Given the description of an element on the screen output the (x, y) to click on. 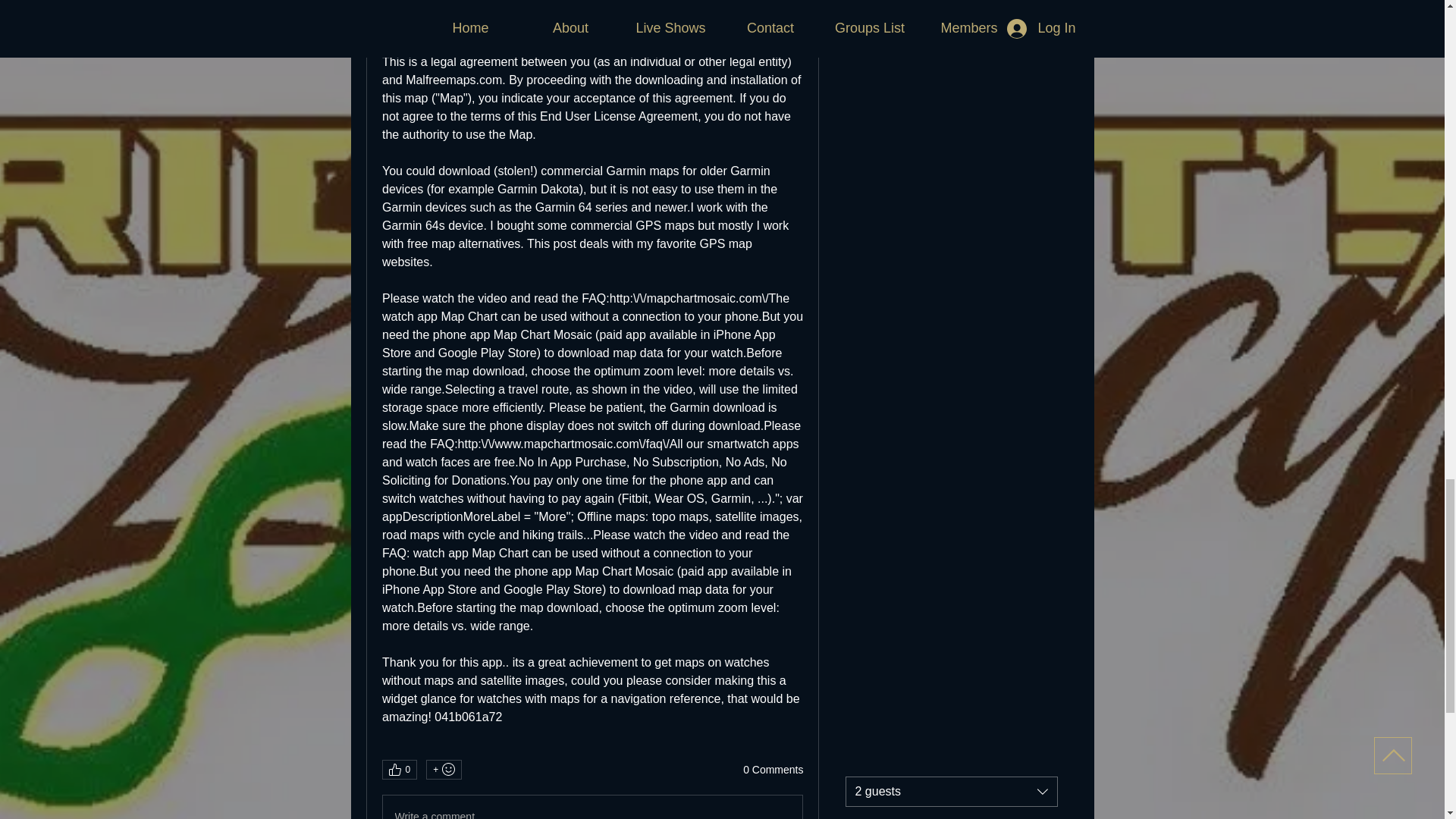
Write a comment... (591, 807)
2 guests (950, 791)
0 Comments (772, 770)
